Given the description of an element on the screen output the (x, y) to click on. 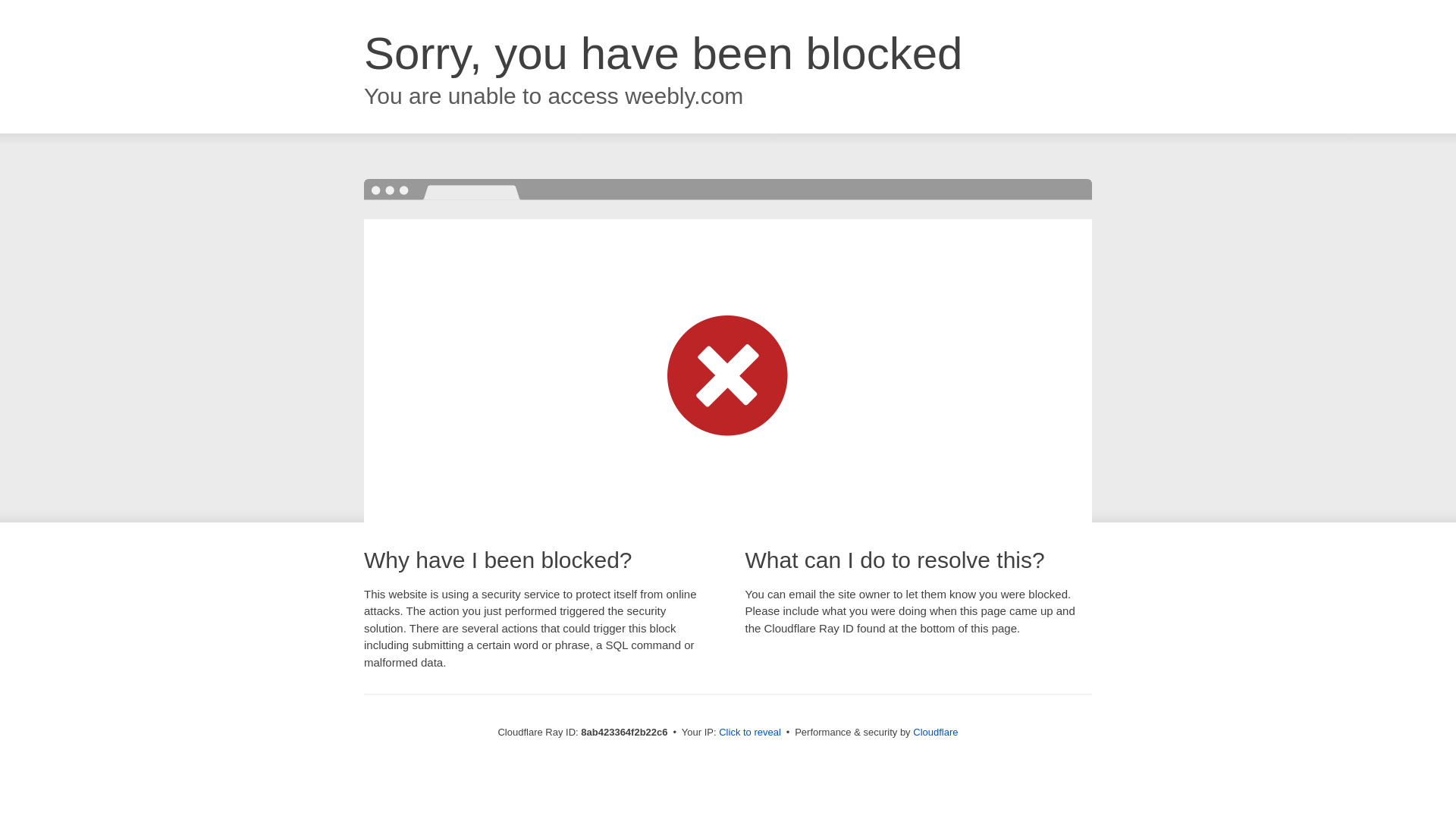
Click to reveal (749, 732)
Cloudflare (935, 731)
